Given the description of an element on the screen output the (x, y) to click on. 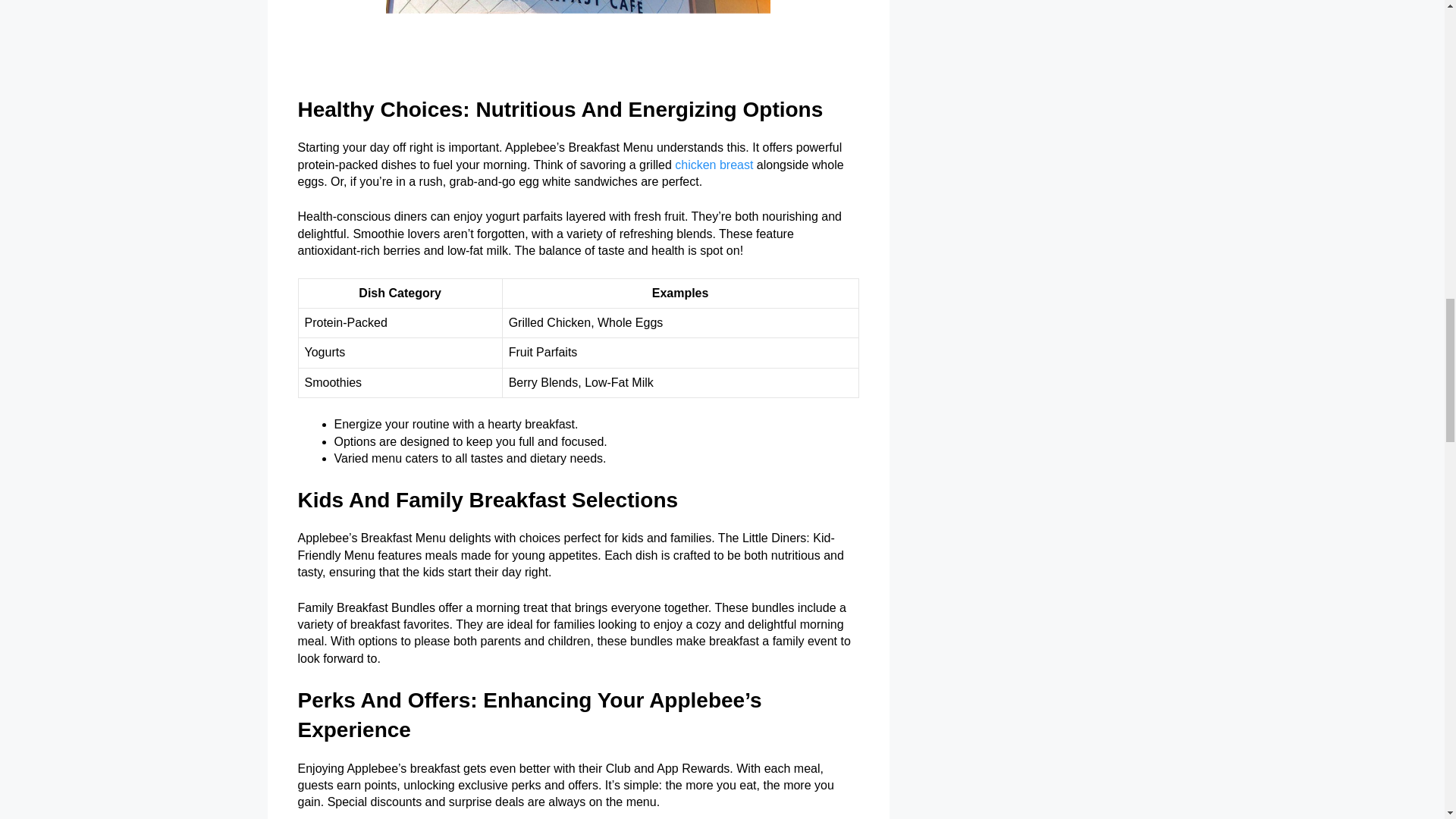
chicken breast (713, 164)
